Given the description of an element on the screen output the (x, y) to click on. 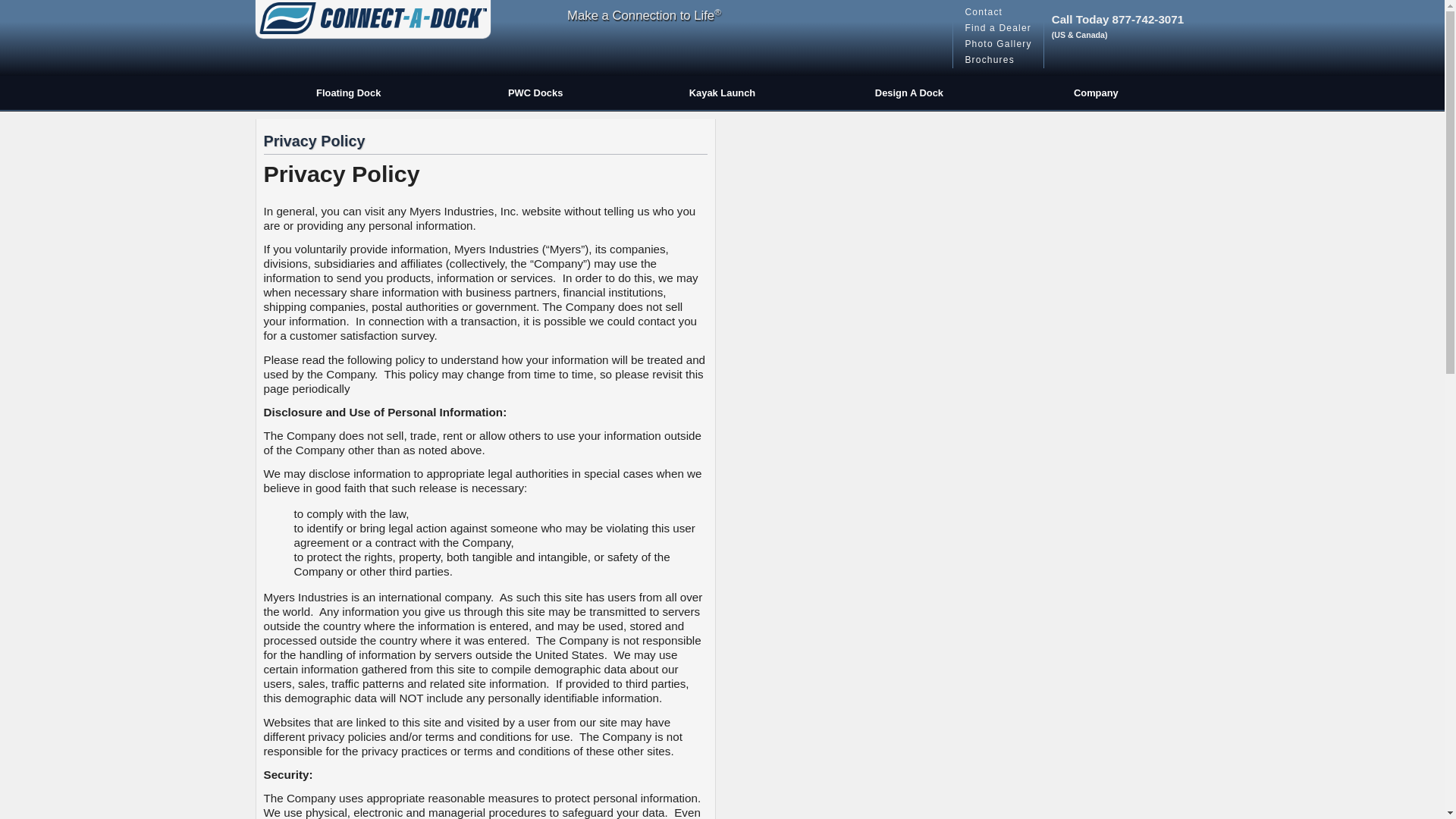
PWC Docks (535, 92)
Company (1096, 92)
Brochures (997, 59)
Floating Dock (347, 92)
Contact (997, 12)
Find a Dealer (997, 28)
Connect-A-Dock Floating Docks (372, 15)
Kayak Launch (721, 92)
Photo Gallery (997, 44)
